Given the description of an element on the screen output the (x, y) to click on. 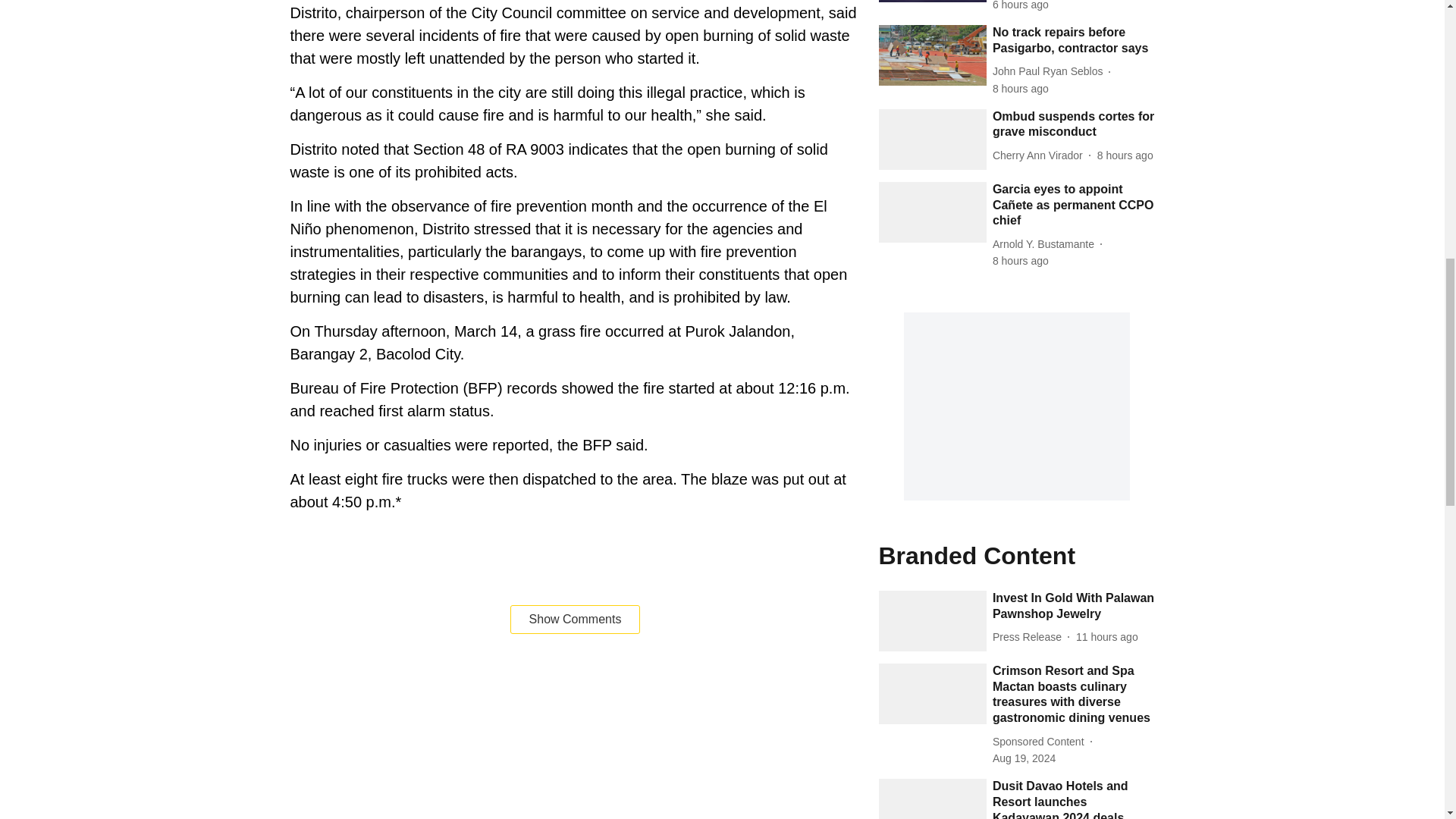
2024-08-19 09:00 (1023, 758)
2024-08-21 14:42 (1020, 89)
Show Comments (575, 619)
2024-08-21 14:19 (1020, 261)
2024-08-21 11:58 (1106, 637)
2024-08-21 14:39 (1125, 155)
2024-08-21 16:08 (1020, 6)
